Given the description of an element on the screen output the (x, y) to click on. 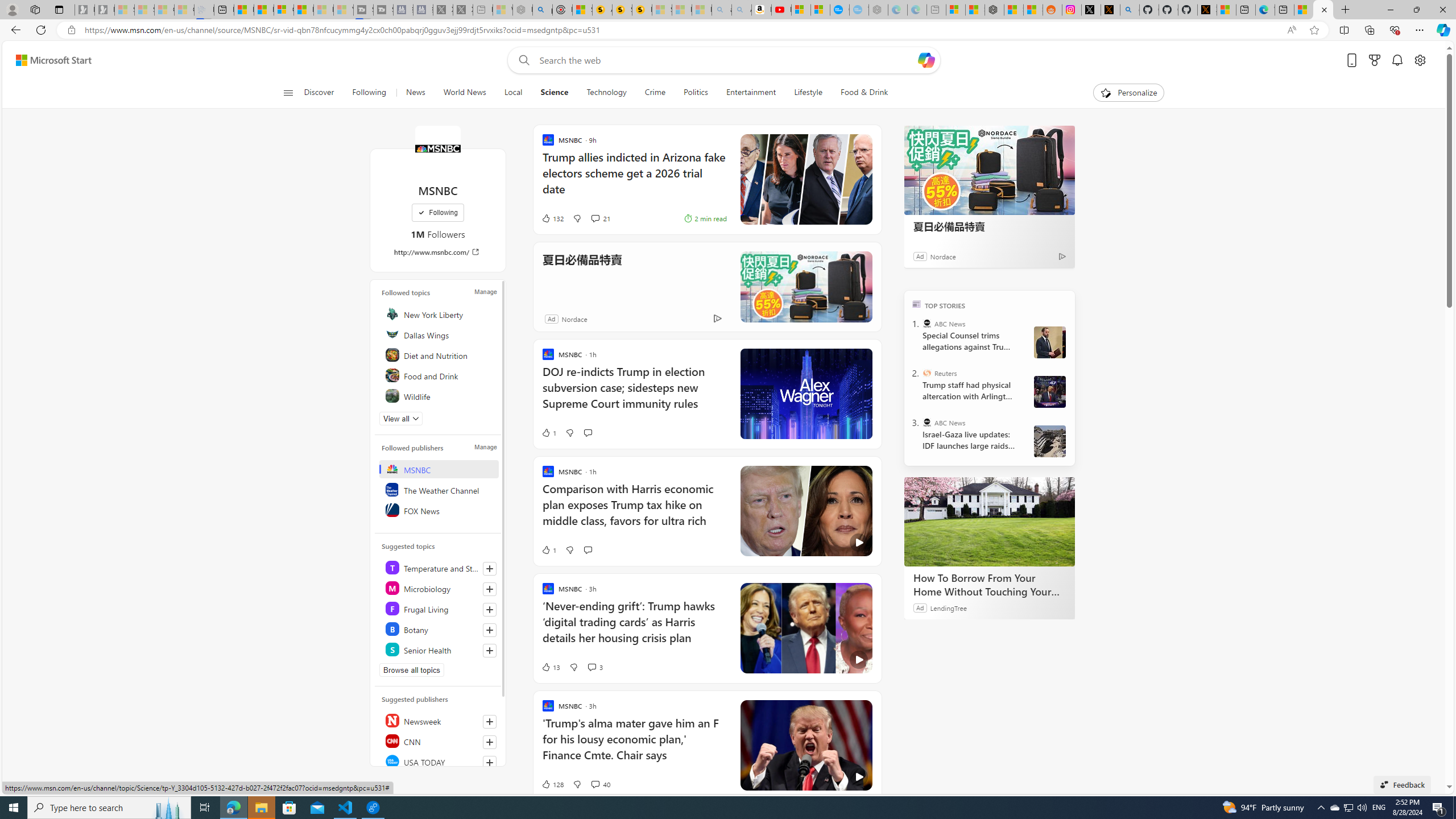
128 Like (551, 784)
Nordace - Summer Adventures 2024 - Sleeping (522, 9)
Nordace - Duffels (994, 9)
Follow this source (489, 762)
Lifestyle (807, 92)
Skip to footer (46, 59)
Enter your search term (726, 59)
amazon - Search - Sleeping (721, 9)
